Given the description of an element on the screen output the (x, y) to click on. 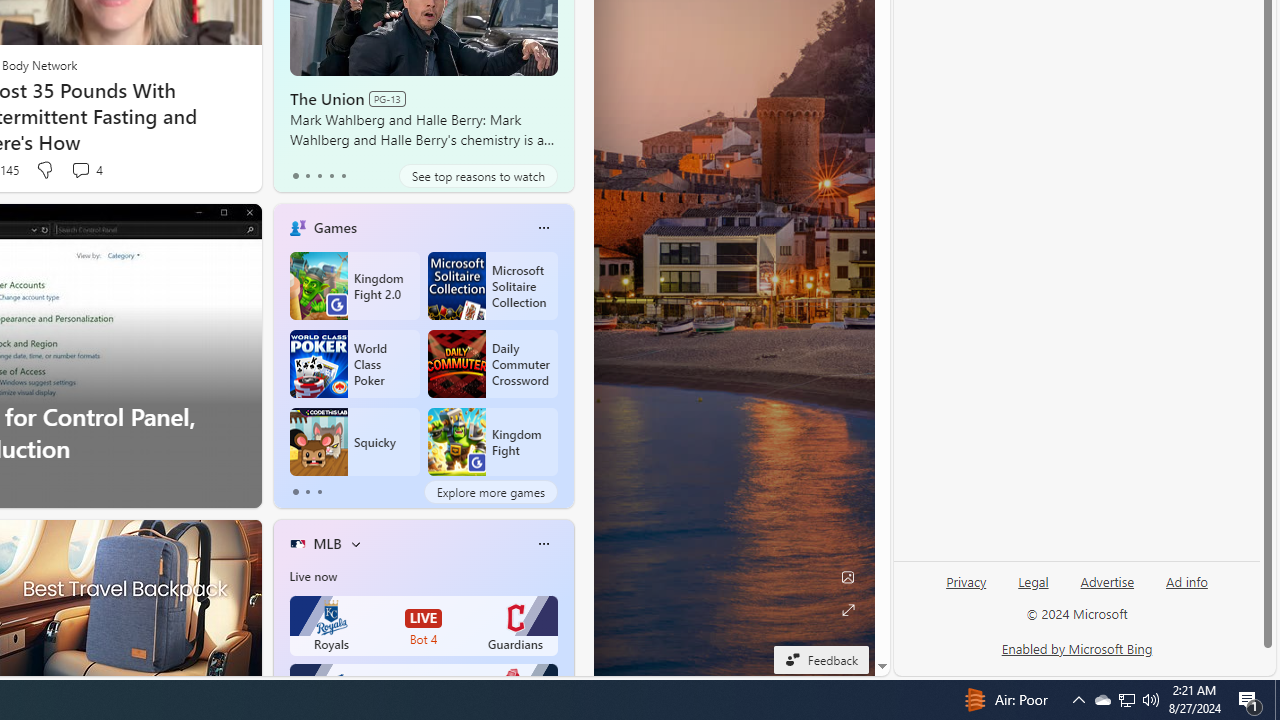
Explore more games (490, 491)
More interests (355, 543)
tab-3 (331, 175)
tab-2 (319, 491)
Class: sd-card-game-item-img-inner (456, 441)
MLB (327, 543)
View comments 4 Comment (80, 169)
View comments 4 Comment (86, 170)
tab-1 (306, 491)
tab-0 (295, 491)
Edit Background (847, 577)
Royals LIVE Bot 4 Guardians (423, 625)
